Given the description of an element on the screen output the (x, y) to click on. 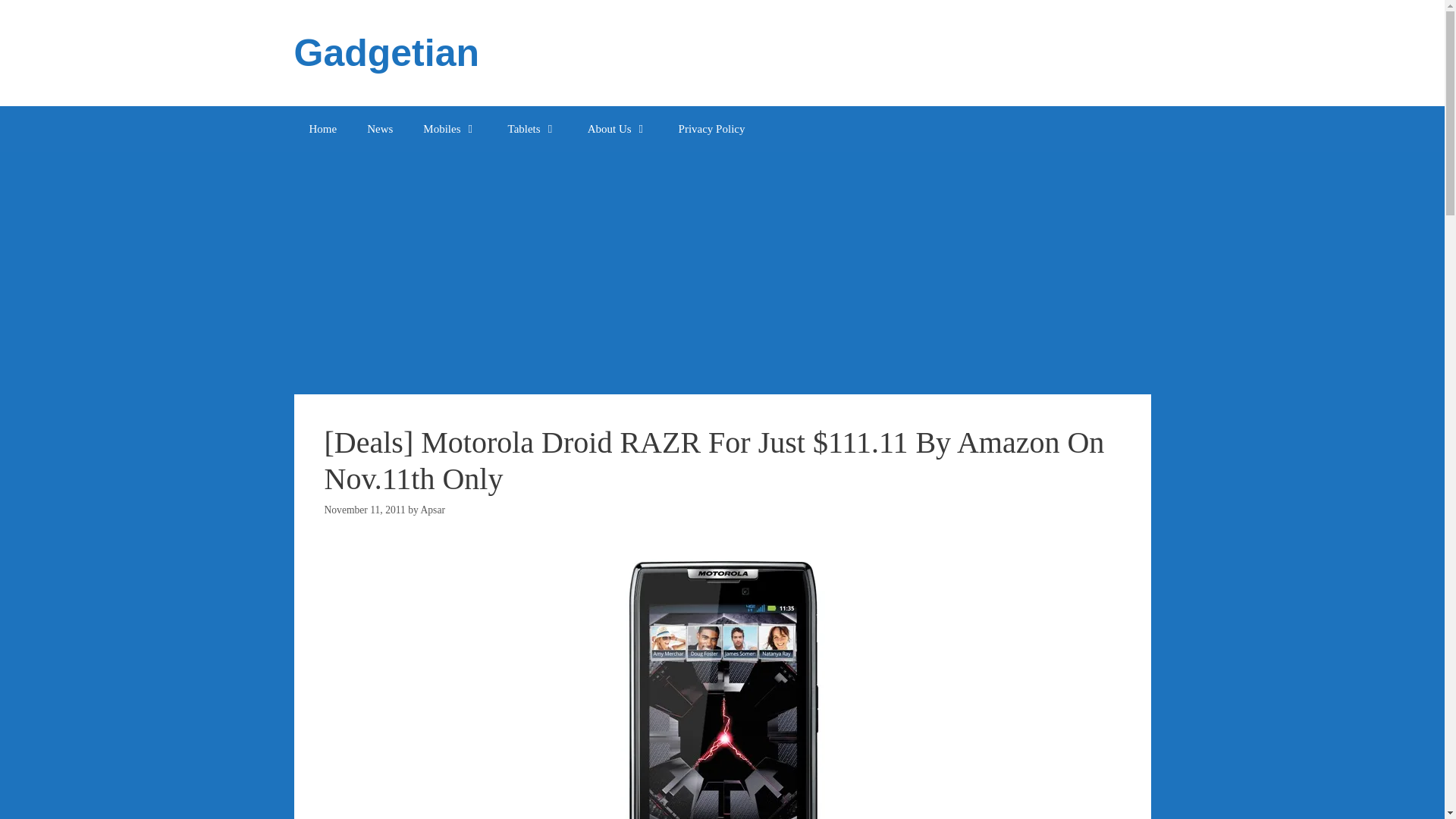
Home (323, 128)
View all posts by Apsar (432, 509)
Apsar (432, 509)
About Us (617, 128)
Privacy Policy (711, 128)
Tablets (532, 128)
News (379, 128)
Mobiles (449, 128)
Gadgetian (386, 52)
